Given the description of an element on the screen output the (x, y) to click on. 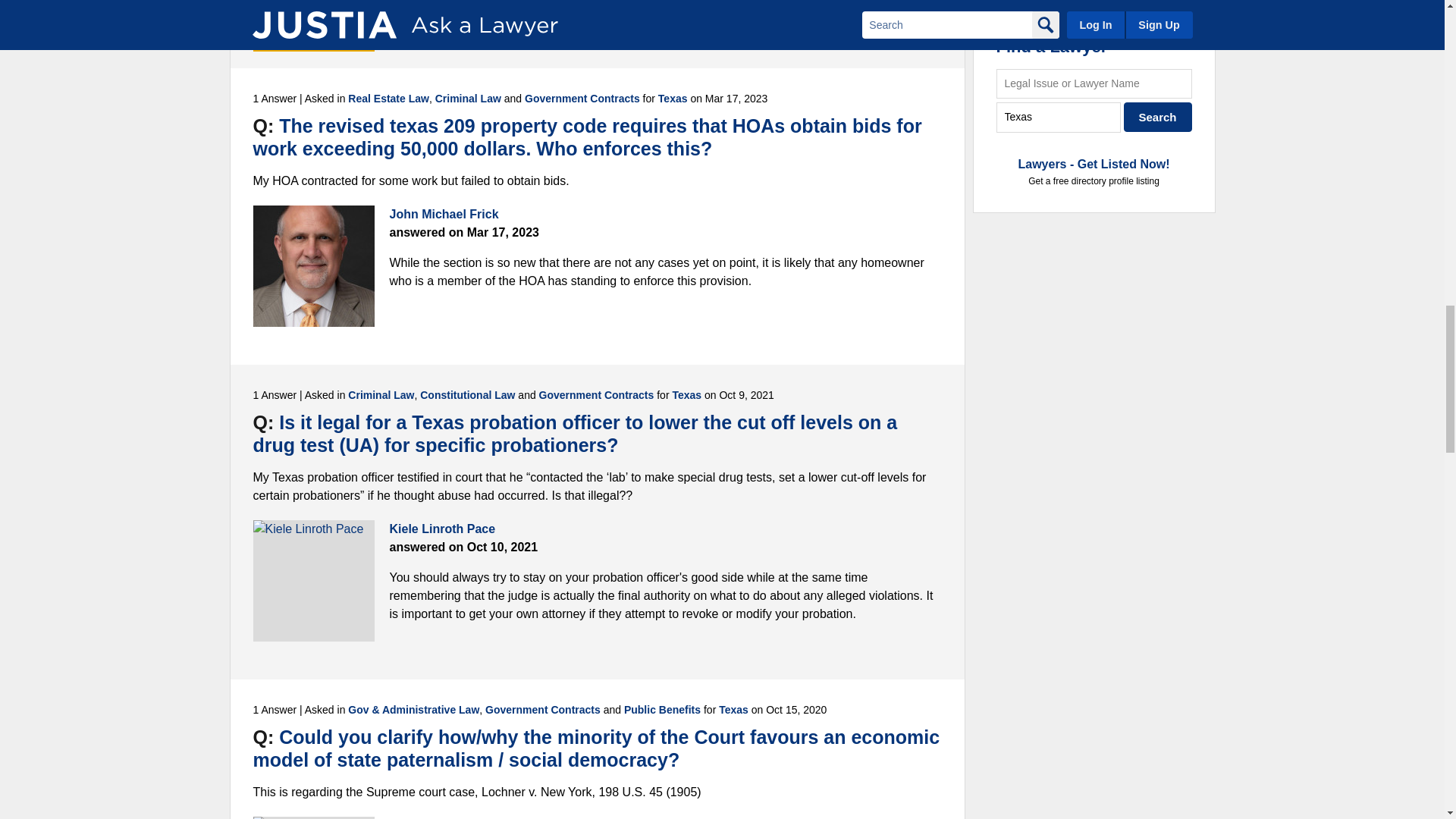
Texas (1058, 116)
Search (1158, 116)
Kiele Linroth Pace (313, 580)
John Michael Frick (313, 265)
James L. Arrasmith (313, 15)
Tim Akpinar (313, 817)
Search (1158, 116)
